Given the description of an element on the screen output the (x, y) to click on. 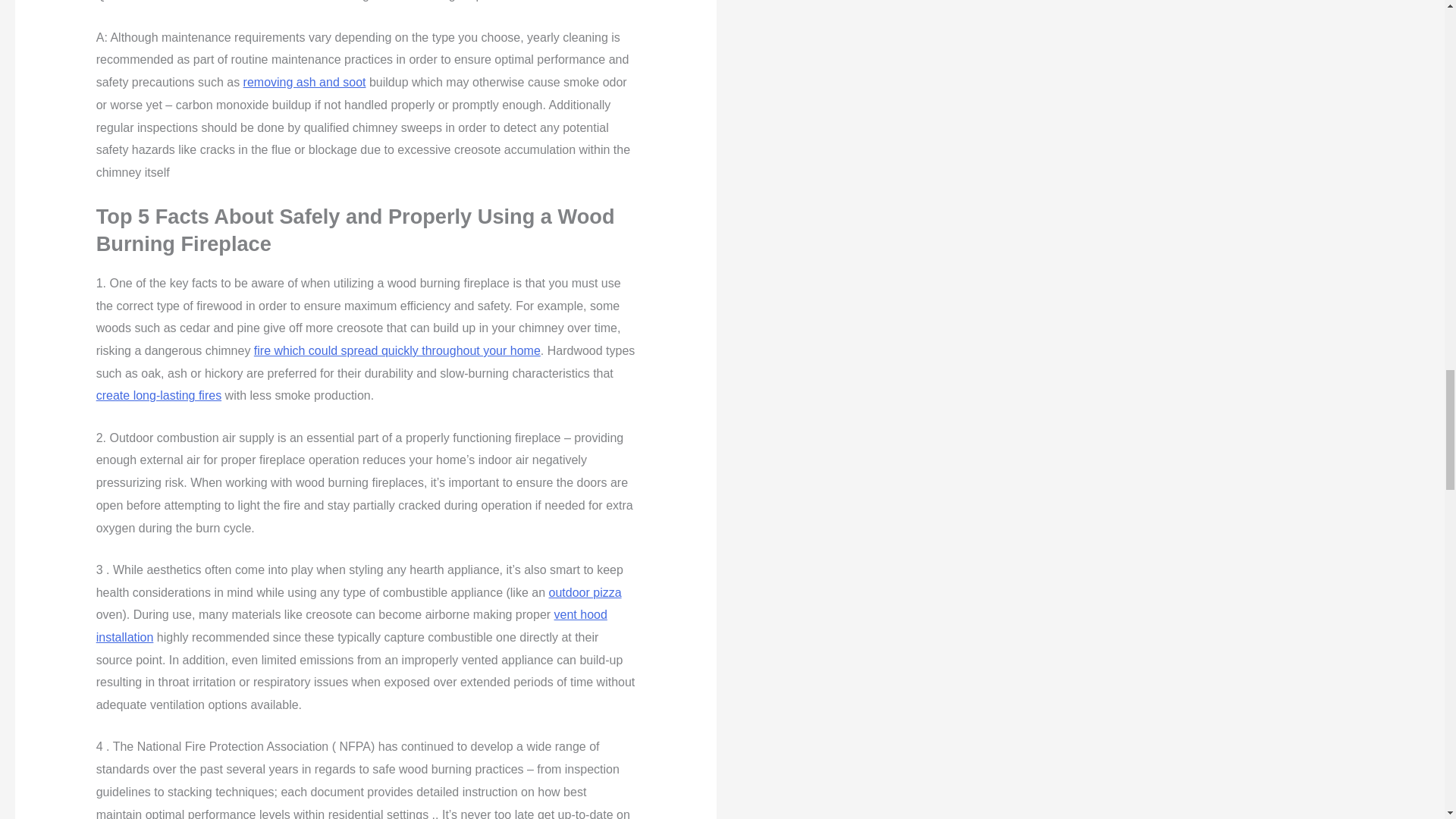
create long-lasting fires (158, 395)
outdoor pizza (584, 592)
fire which could spread quickly throughout your home (396, 350)
removing ash and soot (304, 82)
vent hood installation (351, 625)
